Given the description of an element on the screen output the (x, y) to click on. 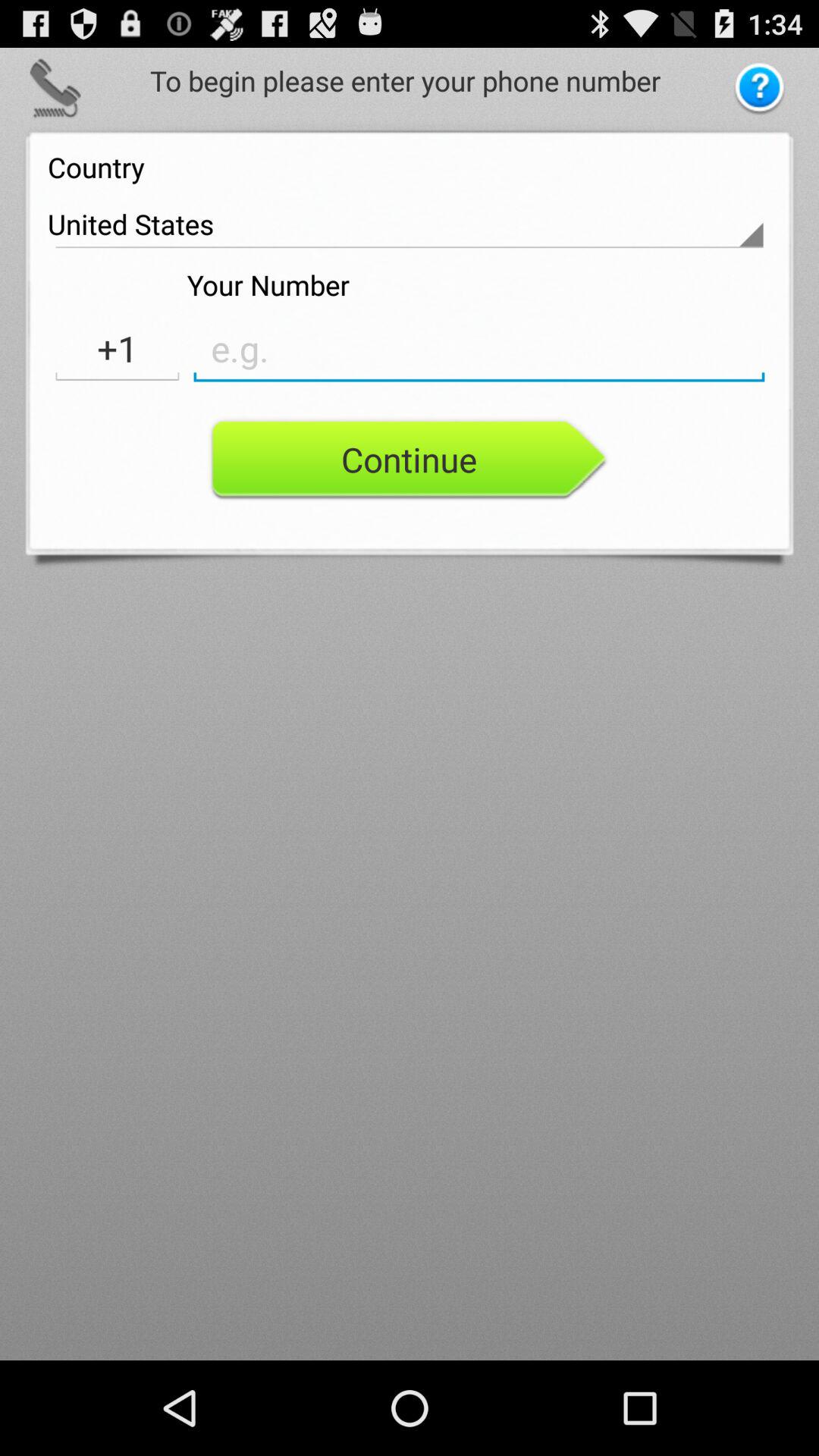
question button (759, 88)
